Given the description of an element on the screen output the (x, y) to click on. 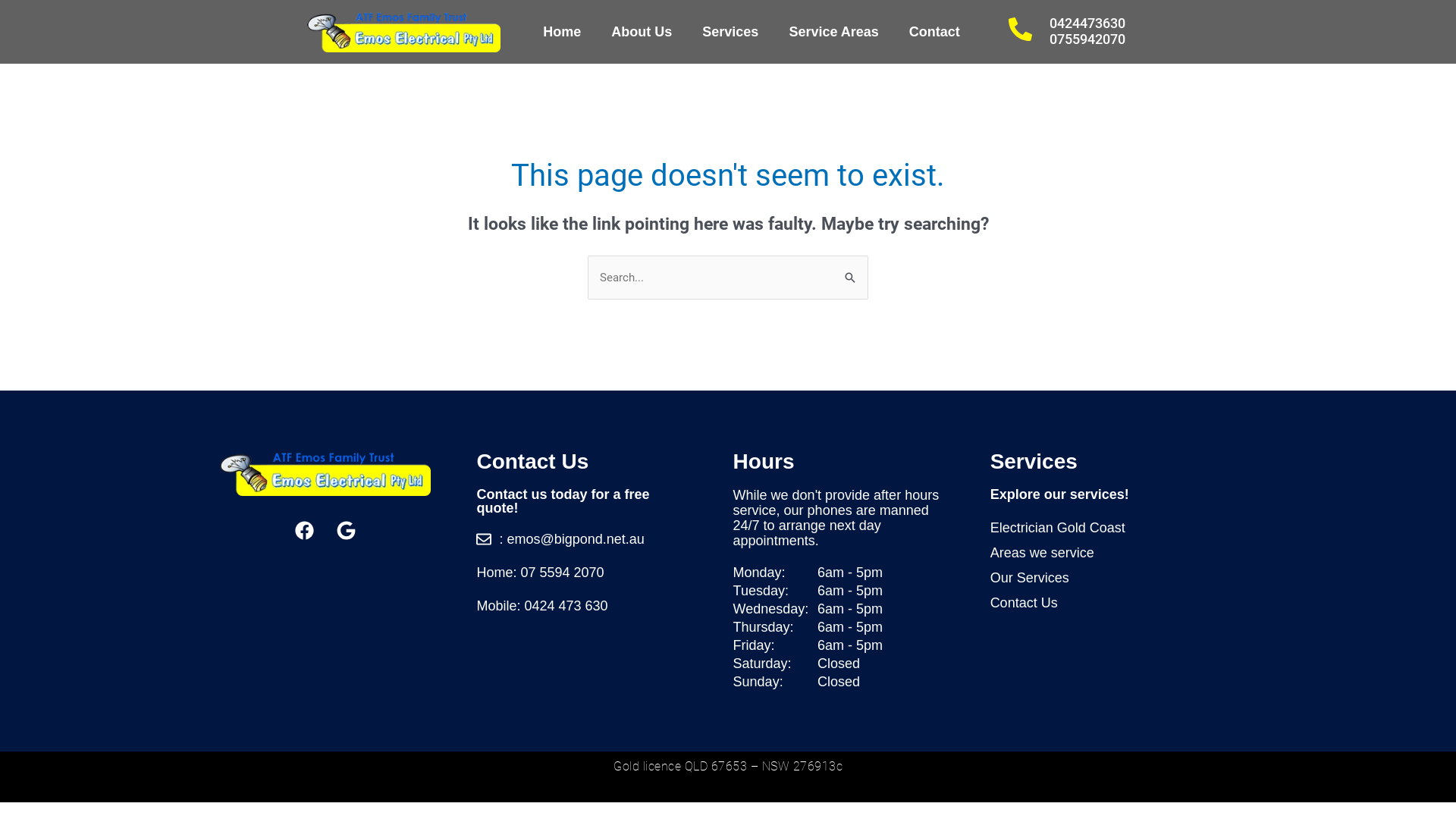
Our Services Element type: text (1113, 577)
Gold licence QLD 67653 Element type: text (679, 766)
Service Areas Element type: text (833, 31)
Contact Element type: text (934, 31)
Services Element type: text (730, 31)
Google Element type: text (346, 530)
About Us Element type: text (641, 31)
Contact Us Element type: text (1113, 602)
0755942070 Element type: text (1087, 39)
Facebook Element type: text (304, 530)
NSW 276913c Element type: text (801, 766)
Electrician Gold Coast Element type: text (1113, 527)
Areas we service Element type: text (1113, 552)
Home: 07 5594 2070 Element type: text (581, 572)
Mobile: 0424 473 630 Element type: text (581, 605)
: emos@bigpond.net.au Element type: text (581, 539)
0424473630 Element type: text (1087, 23)
Search Element type: text (851, 270)
Home Element type: text (561, 31)
